Given the description of an element on the screen output the (x, y) to click on. 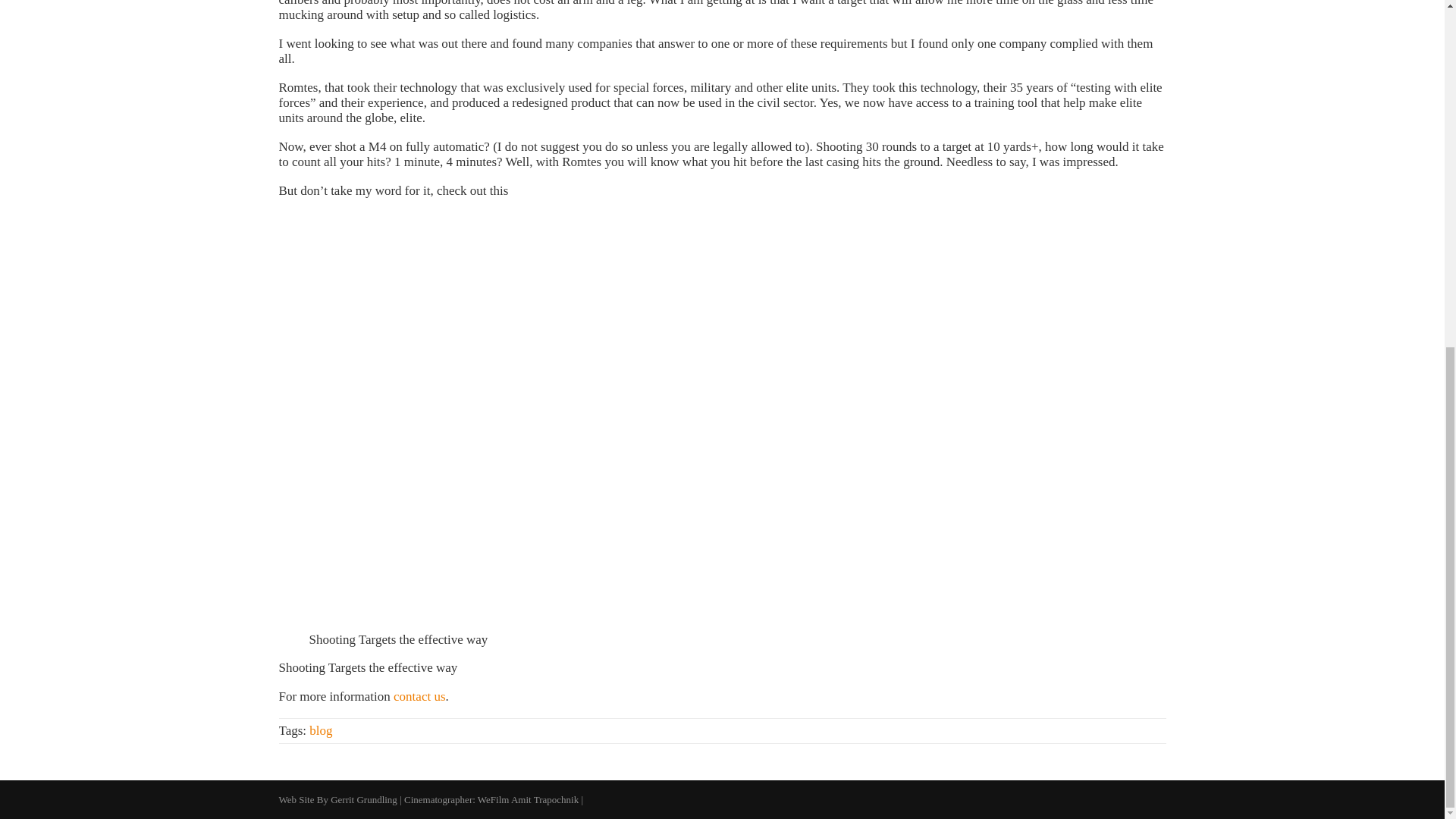
contact us (419, 696)
WeFilm (493, 799)
blog (319, 730)
